Given the description of an element on the screen output the (x, y) to click on. 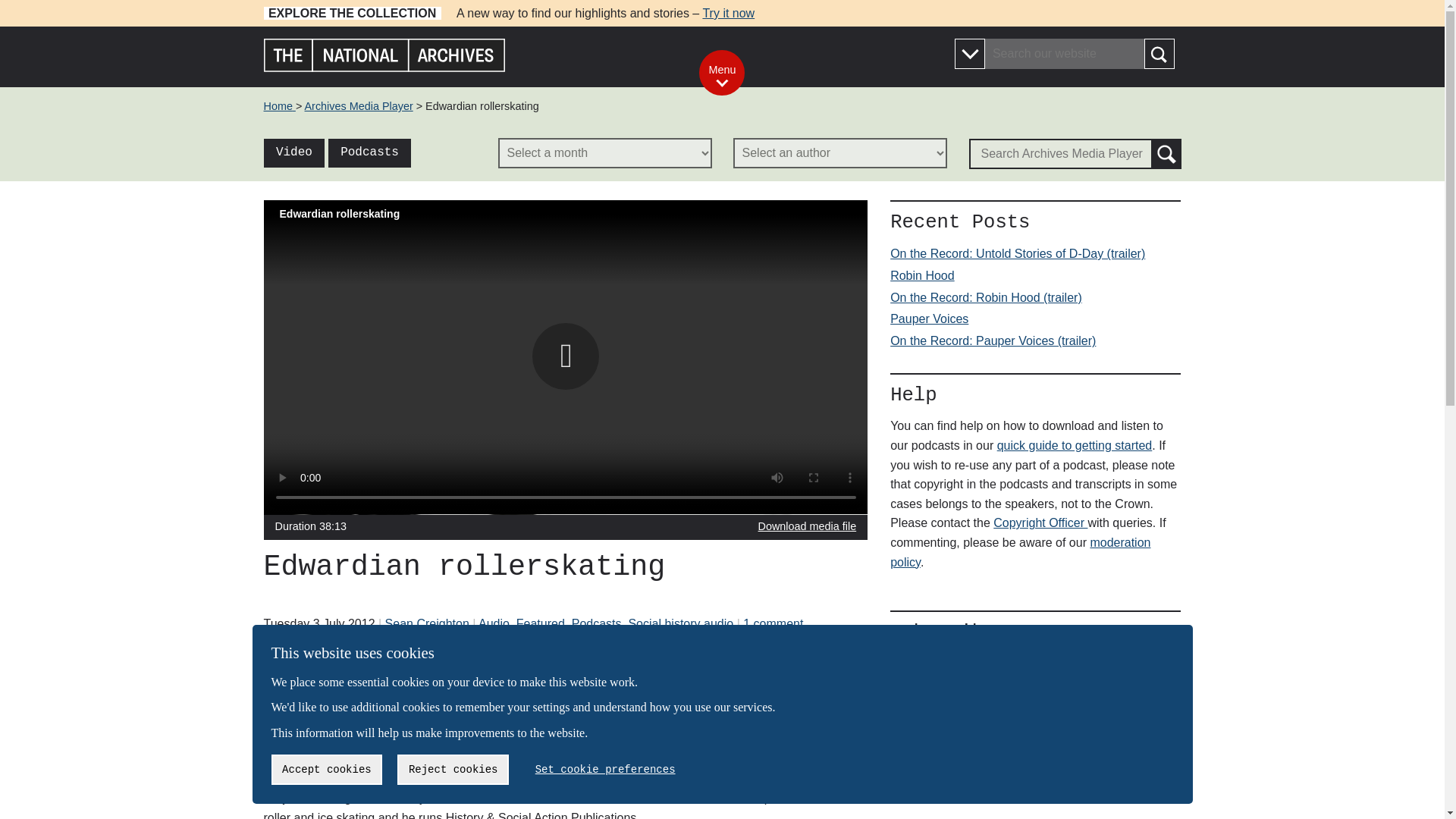
Try it now (727, 12)
Posts by Sean Creighton (426, 623)
Accept cookies (326, 769)
Set cookie preferences (604, 769)
Menu (721, 72)
Search (1157, 53)
Search (1165, 153)
Main menu (721, 72)
View all posts in Podcasts (596, 623)
